Given the description of an element on the screen output the (x, y) to click on. 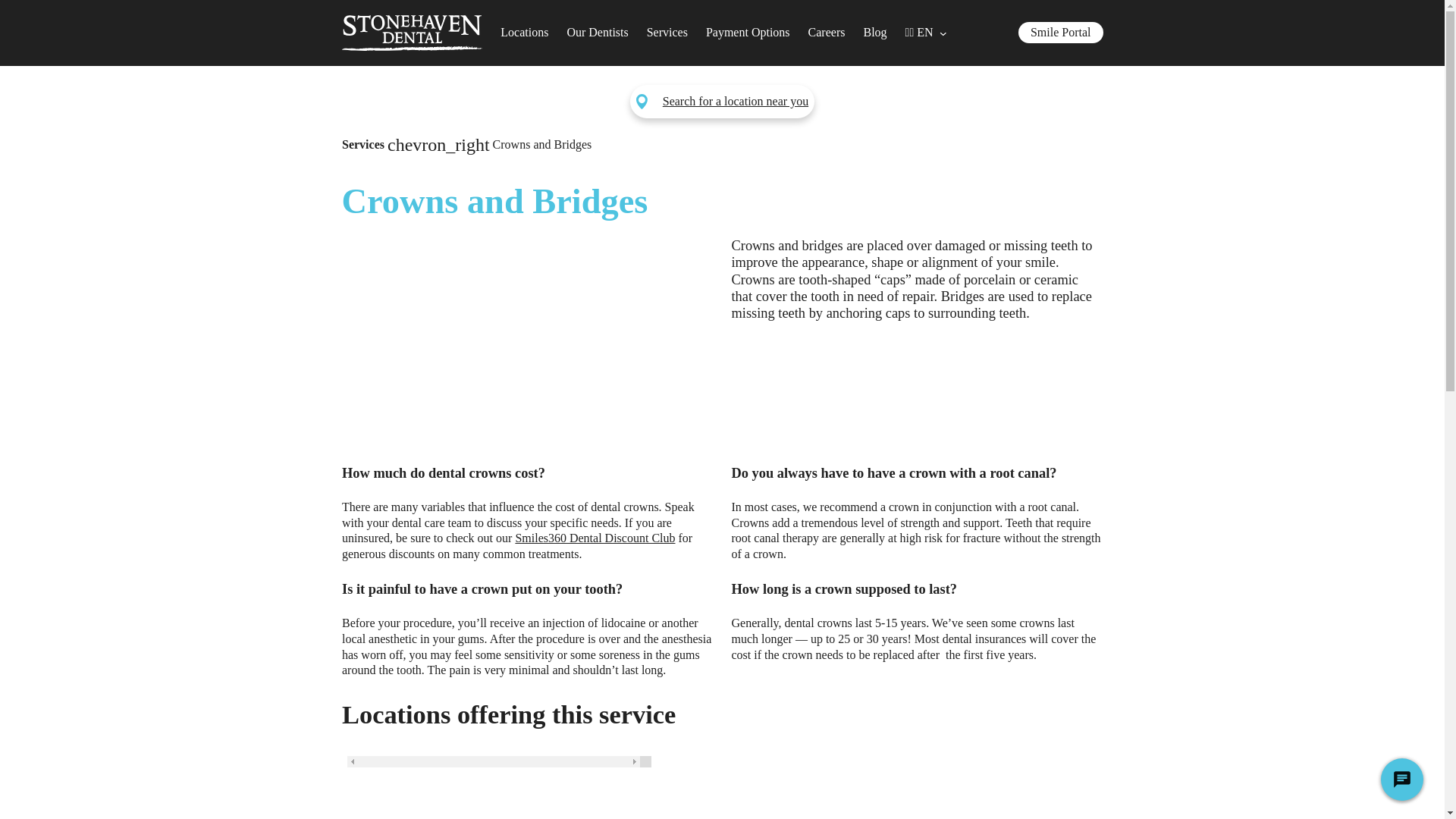
Search for a location near you (735, 101)
Locations (524, 32)
Careers (826, 32)
Our Dentists (596, 32)
Crowns (527, 341)
Services (666, 32)
Payment Options (748, 32)
Messenger Launcher (1401, 782)
Blog (874, 32)
EN (920, 32)
